Given the description of an element on the screen output the (x, y) to click on. 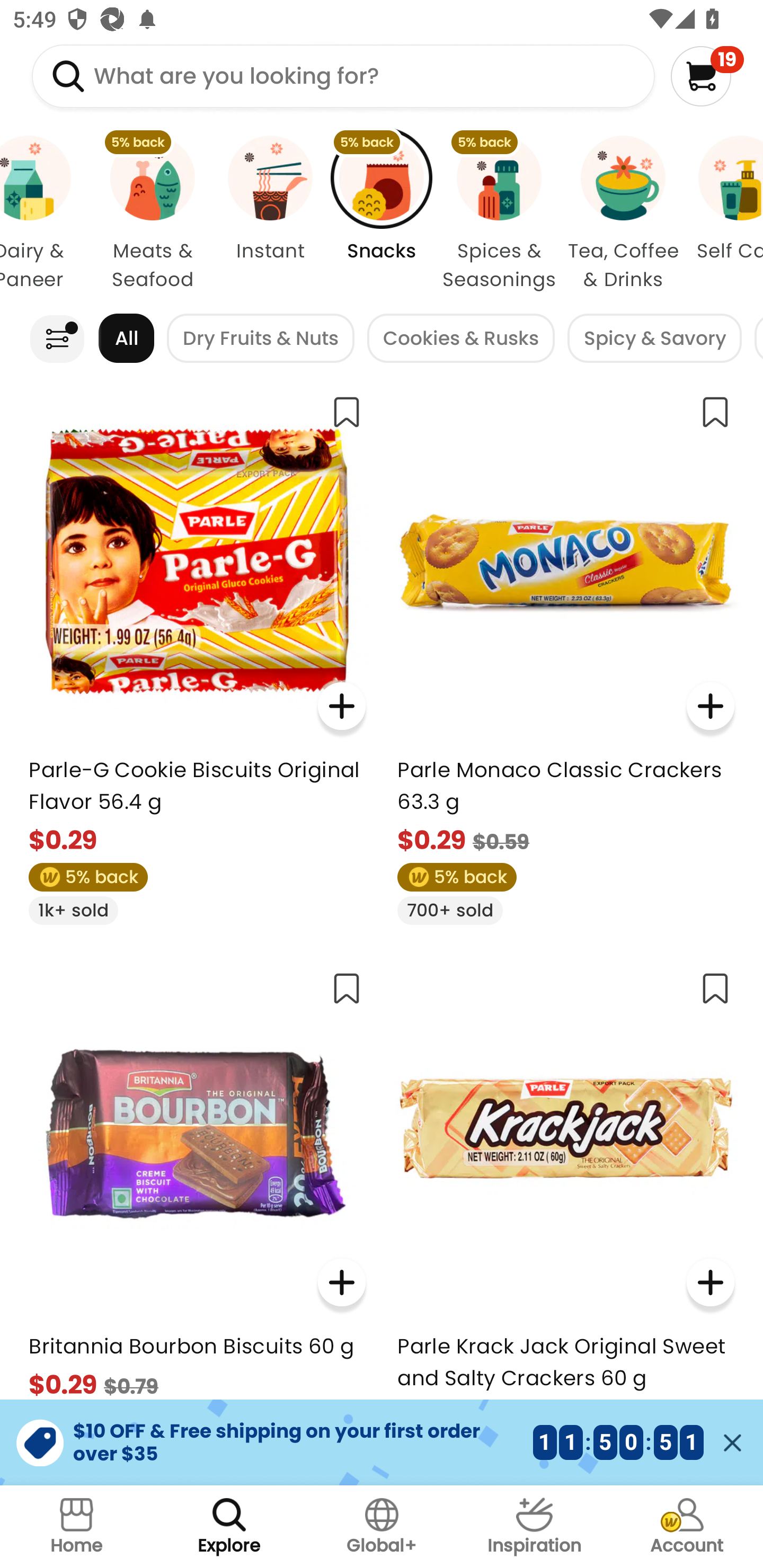
What are you looking for? (343, 75)
19 (706, 75)
Dairy & Paneer (45, 214)
5% back Meats & Seafood (152, 214)
Instant (269, 214)
5% back Snacks (381, 214)
5% back Spices & Seasonings (498, 214)
Tea, Coffee & Drinks (622, 214)
Self Care (724, 214)
All (126, 337)
Dry Fruits & Nuts (260, 337)
Cookies & Rusks (460, 337)
Spicy & Savory (654, 337)
Home (76, 1526)
Explore (228, 1526)
Global+ (381, 1526)
Inspiration (533, 1526)
Account (686, 1526)
